Given the description of an element on the screen output the (x, y) to click on. 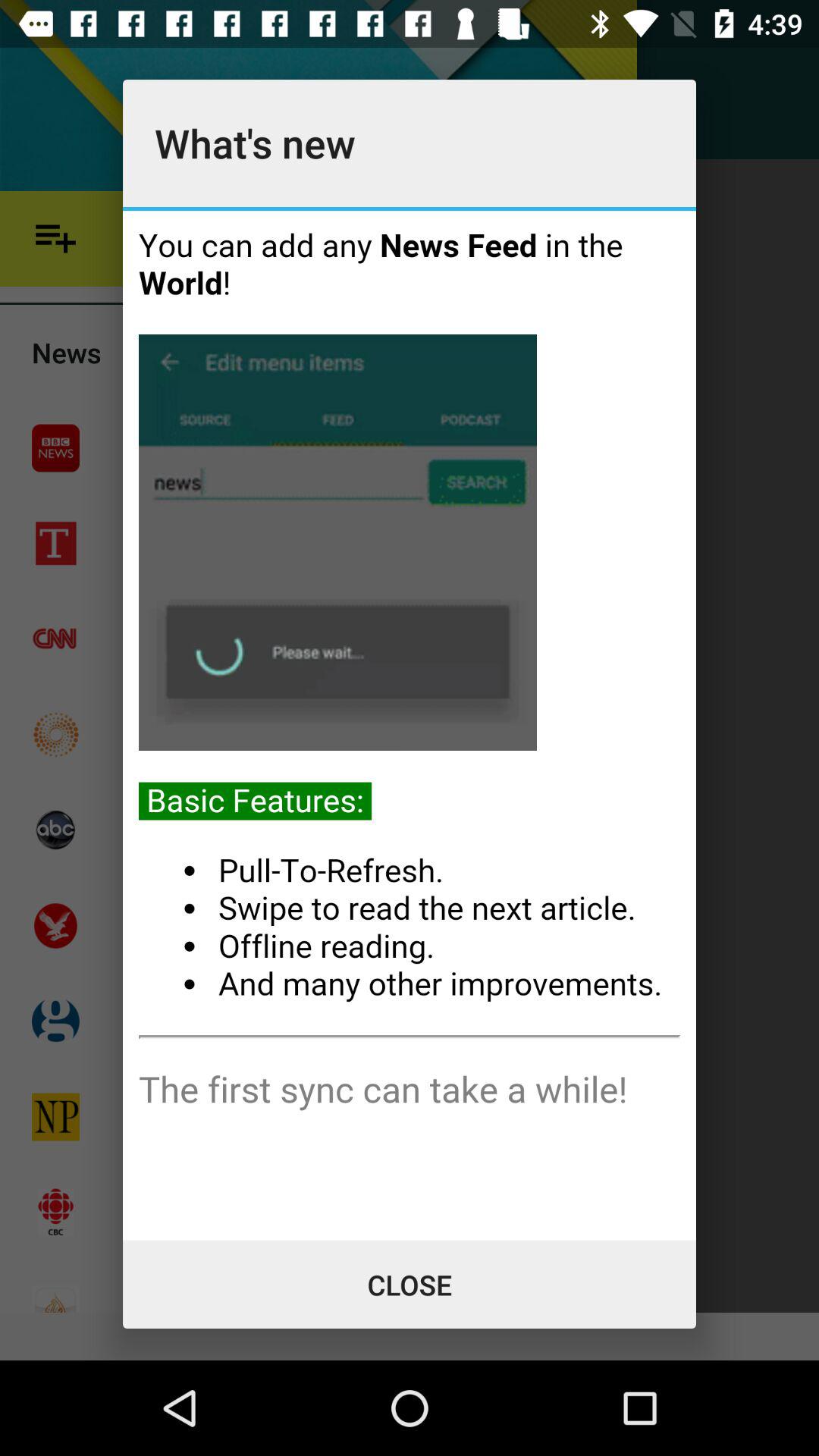
go to advertisement page (409, 725)
